Given the description of an element on the screen output the (x, y) to click on. 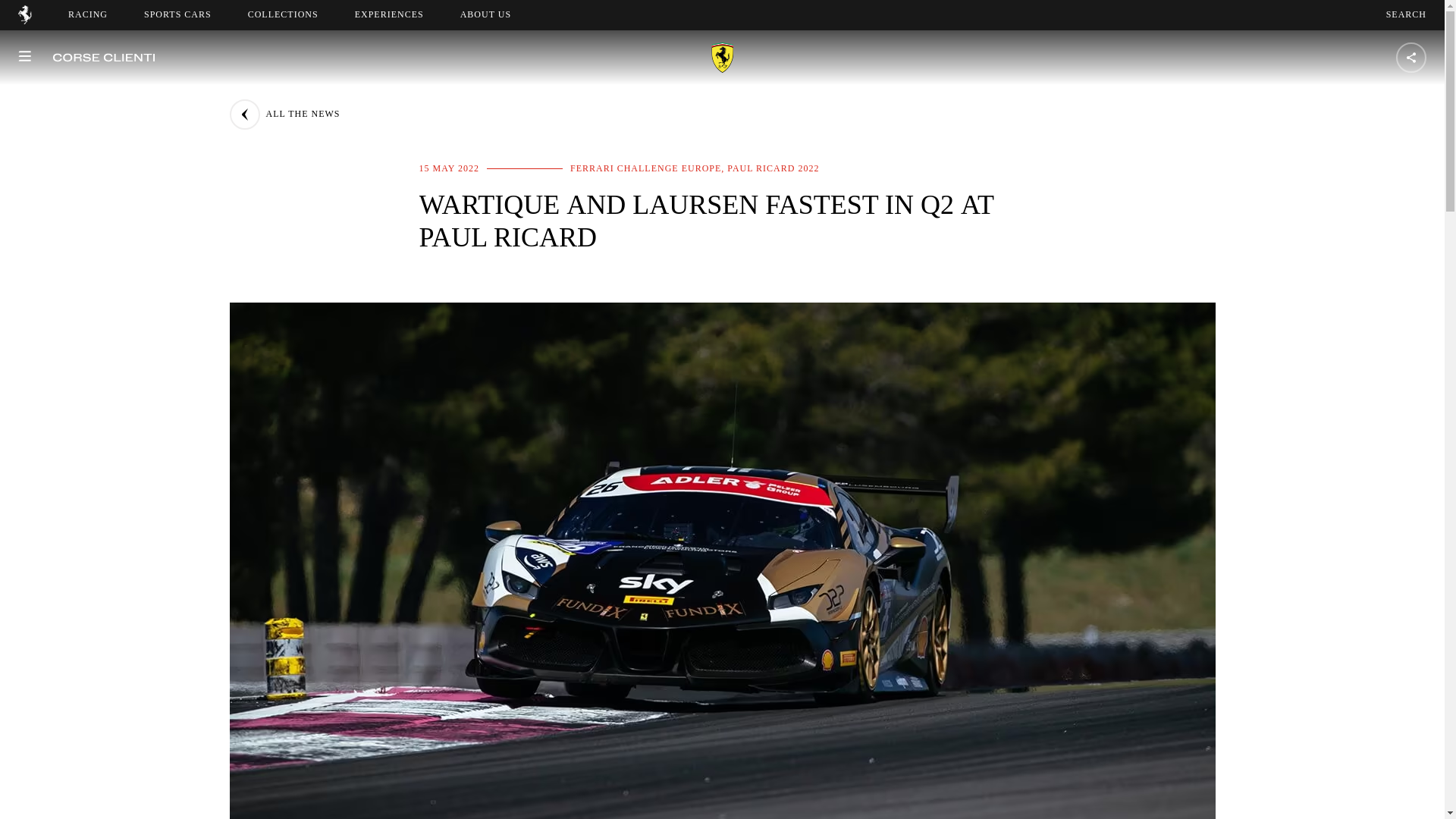
EXPERIENCES (389, 14)
COLLECTIONS (282, 14)
Ferrari logo (24, 19)
ABOUT US (485, 14)
RACING (87, 14)
SEARCH (499, 14)
SPORTS CARS (1406, 14)
ALL THE NEWS (177, 14)
